Given the description of an element on the screen output the (x, y) to click on. 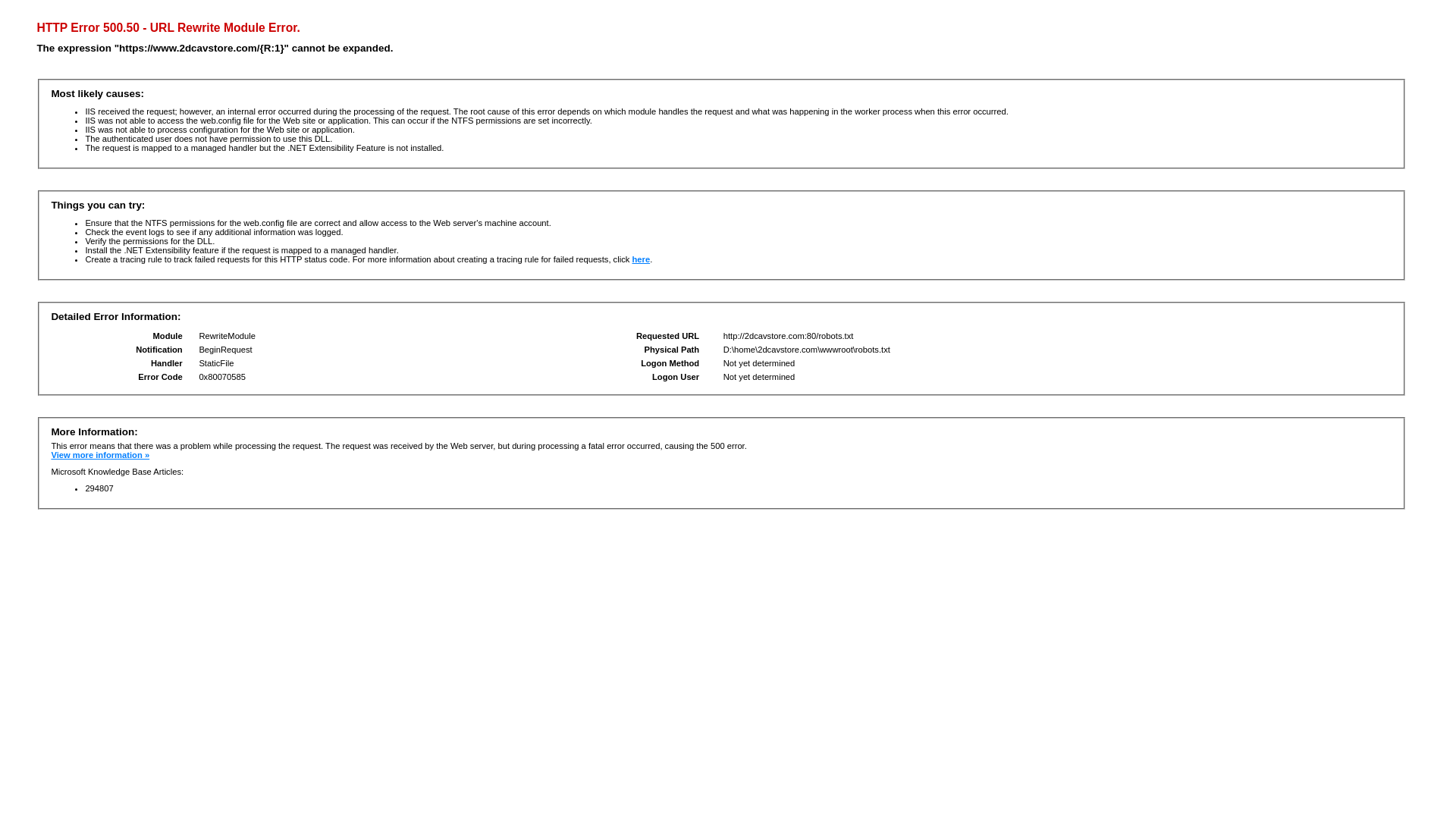
here Element type: text (640, 258)
